Given the description of an element on the screen output the (x, y) to click on. 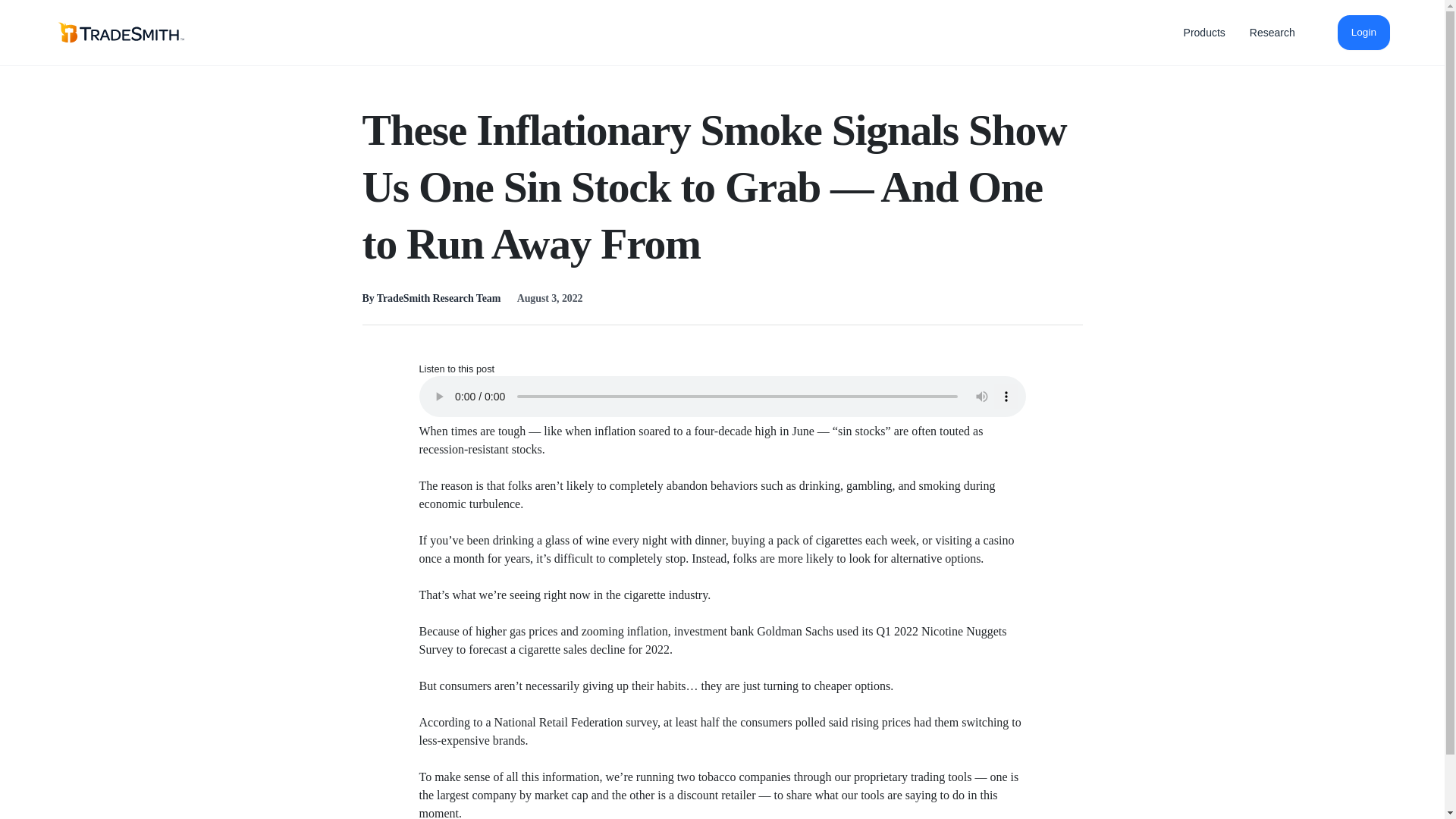
TradeSmith Research Team (438, 297)
Research (1272, 32)
Products (1204, 32)
Login (1364, 32)
